Given the description of an element on the screen output the (x, y) to click on. 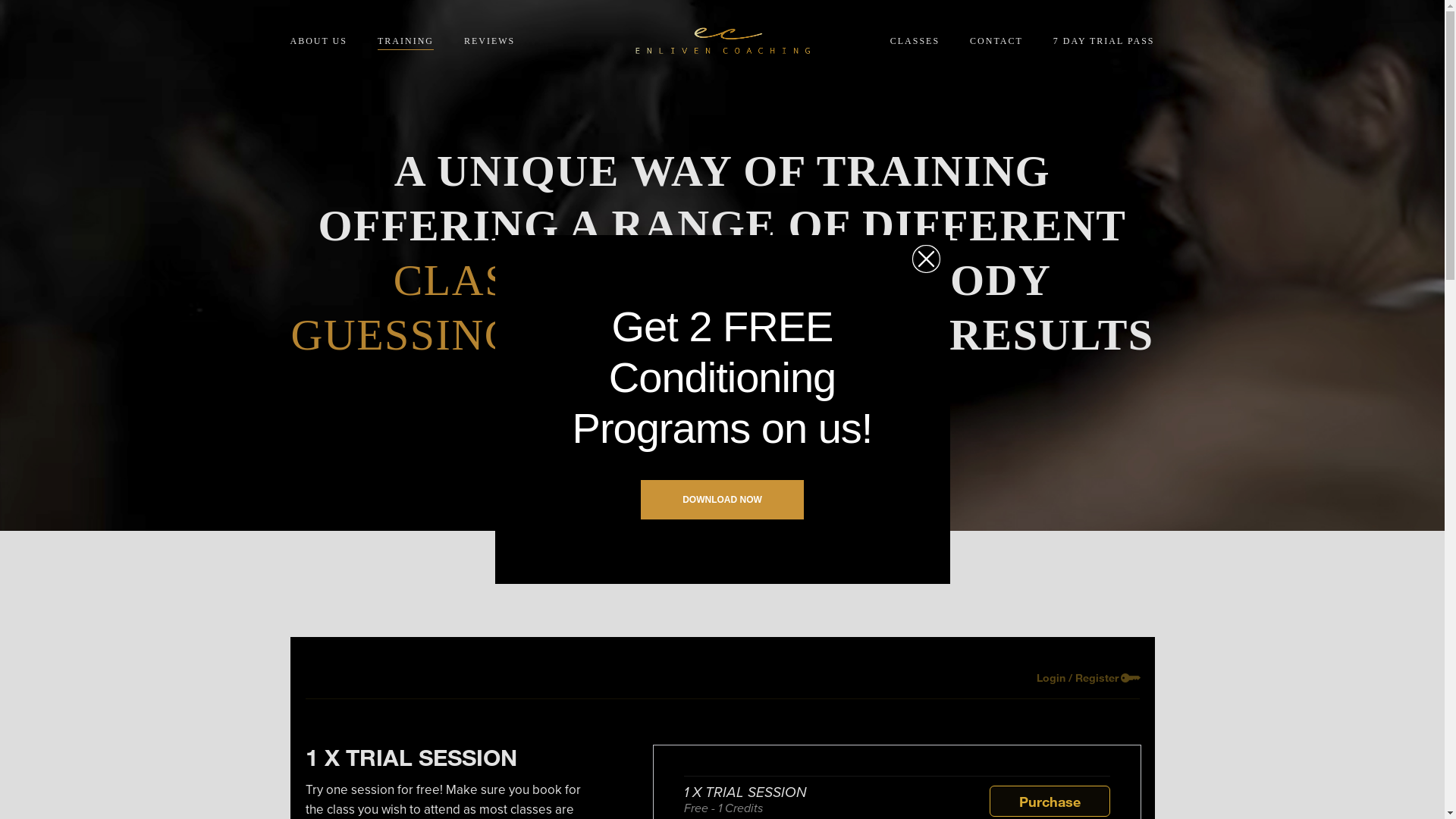
ABOUT US Element type: text (317, 40)
TRAINING Element type: text (405, 40)
CONTACT Element type: text (995, 40)
7 DAY TRIAL PASS Element type: text (1103, 40)
REVIEWS Element type: text (489, 40)
DOWNLOAD NOW Element type: text (721, 499)
Close Element type: hover (925, 258)
CLASSES Element type: text (914, 40)
